Given the description of an element on the screen output the (x, y) to click on. 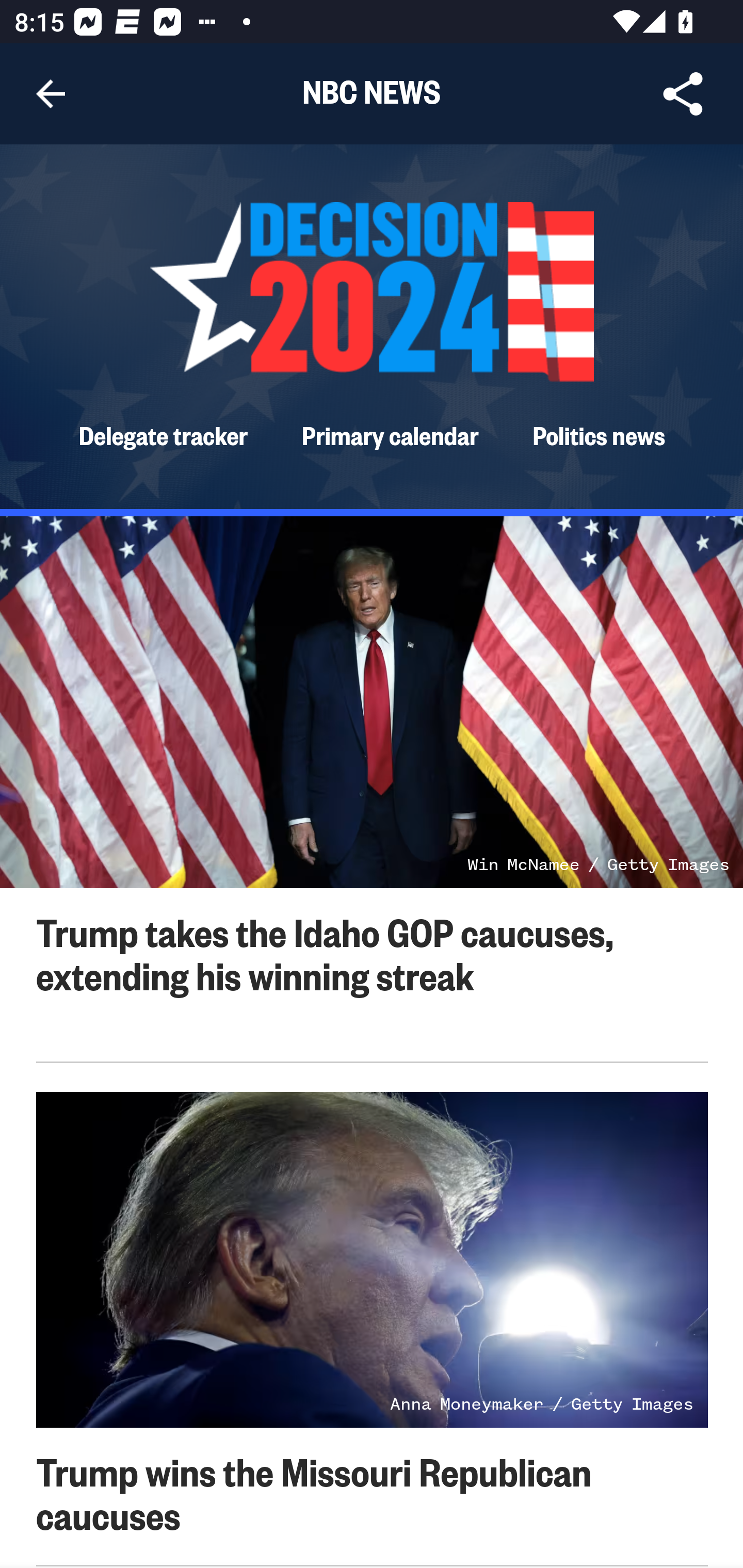
Navigate up (50, 93)
Share Article, button (683, 94)
Delegate tracker (162, 434)
Primary calendar (390, 434)
Politics news (598, 434)
Trump wins the Missouri Republican caucuses (314, 1491)
